Given the description of an element on the screen output the (x, y) to click on. 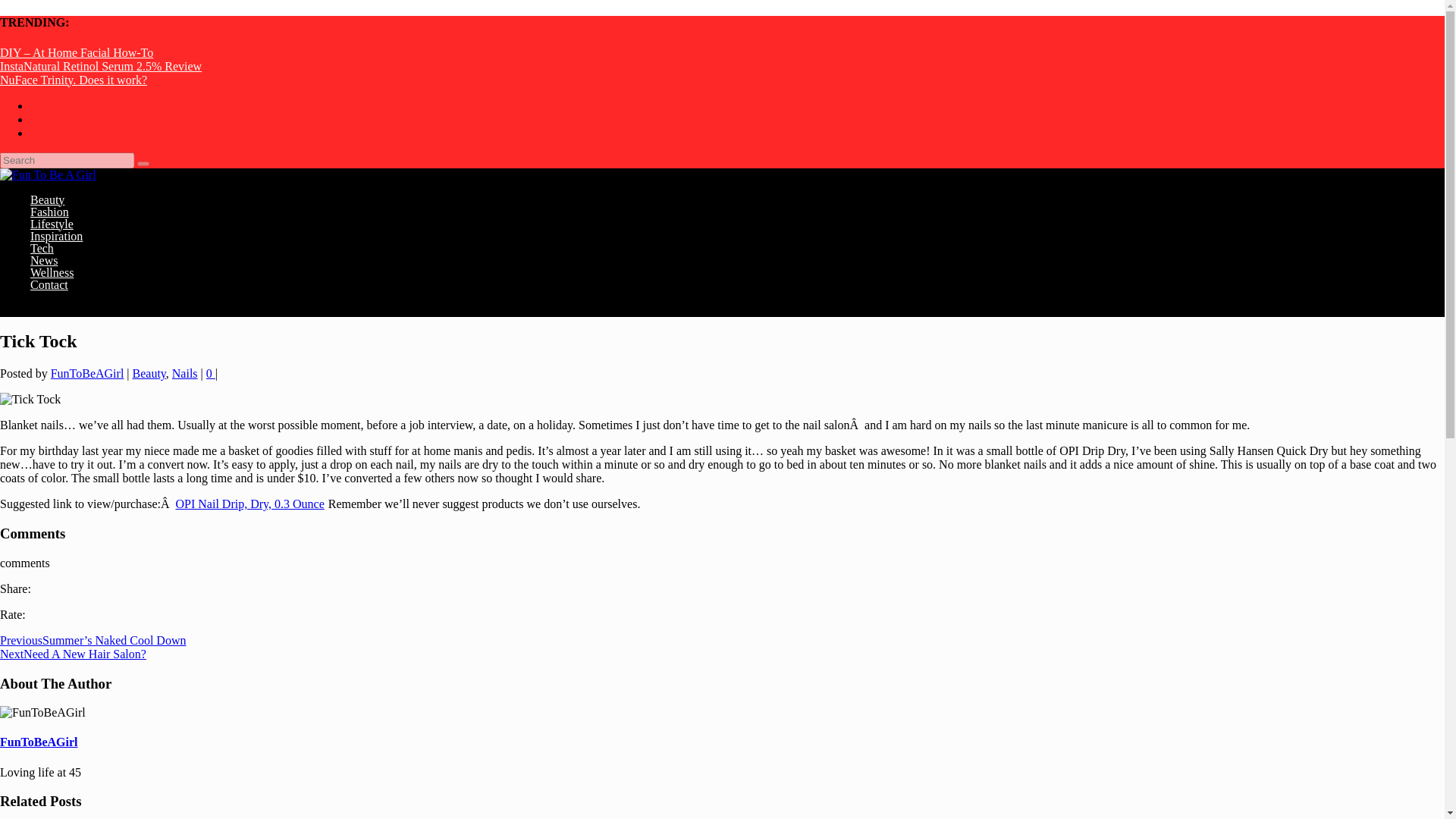
Search for: (66, 160)
Inspiration (56, 261)
Beauty (148, 373)
Fashion (49, 237)
Contact (49, 310)
FunToBeAGirl (86, 373)
0 (210, 373)
Nails (184, 373)
News (44, 285)
Lifestyle (52, 249)
Posts by FunToBeAGirl (86, 373)
NuFace Trinity. Does it work? (73, 79)
OPI Nail Drip, Dry, 0.3 Ounce (250, 503)
Wellness (52, 298)
Beauty (47, 225)
